Given the description of an element on the screen output the (x, y) to click on. 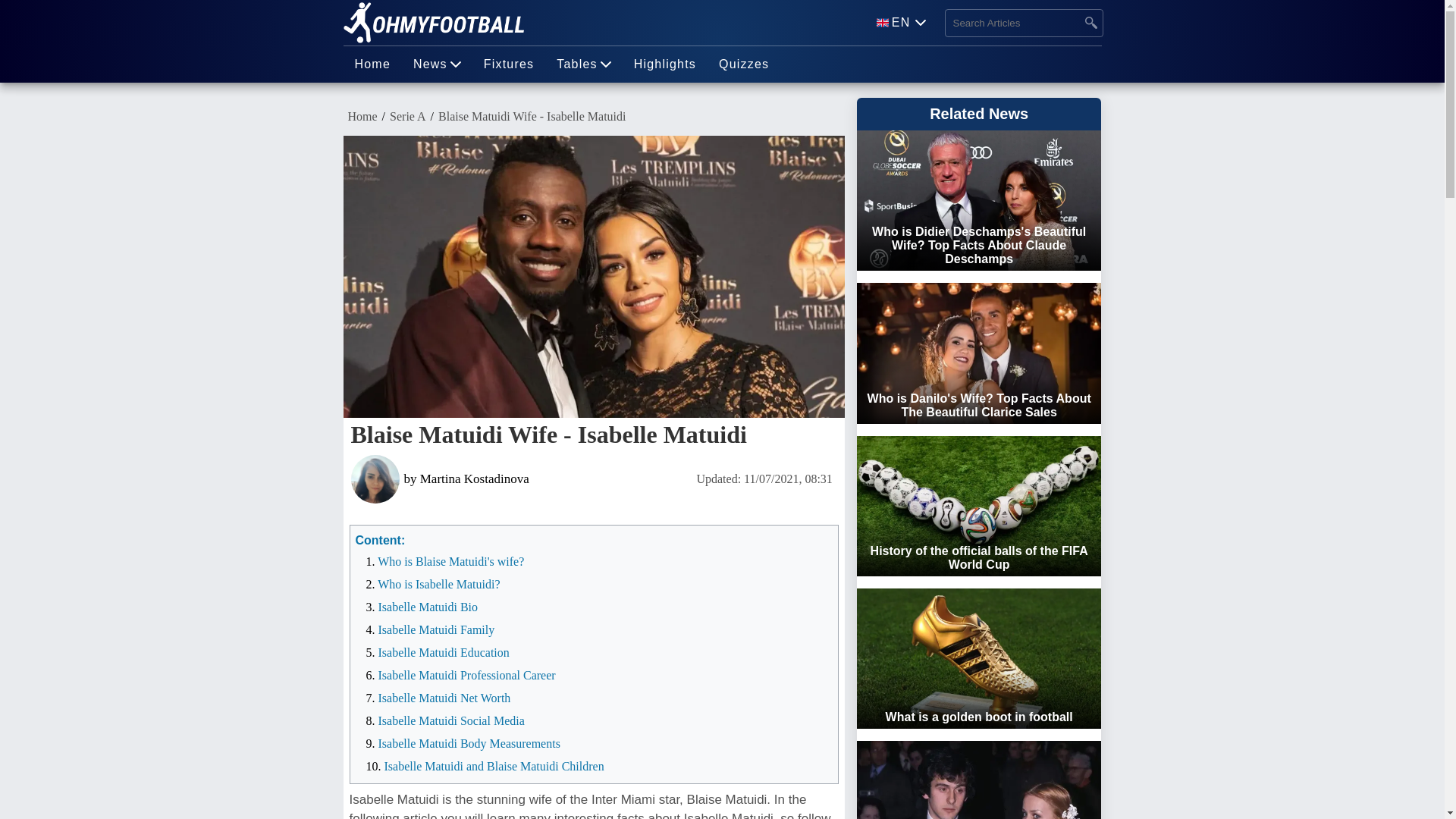
EN (900, 22)
Fixtures (508, 63)
Highlights (665, 63)
Home (371, 63)
Isabelle Matuidi Social Media (450, 720)
Who is Isabelle Matuidi? (438, 584)
Isabelle Matuidi Family (436, 629)
Isabelle Matuidi Body Measurements (468, 743)
News (436, 63)
Who is Blaise Matuidi's wife? (450, 561)
Serie A (408, 116)
Quizzes (743, 63)
by Martina Kostadinova (518, 479)
Isabelle Matuidi Bio (427, 606)
Tables (582, 63)
